Given the description of an element on the screen output the (x, y) to click on. 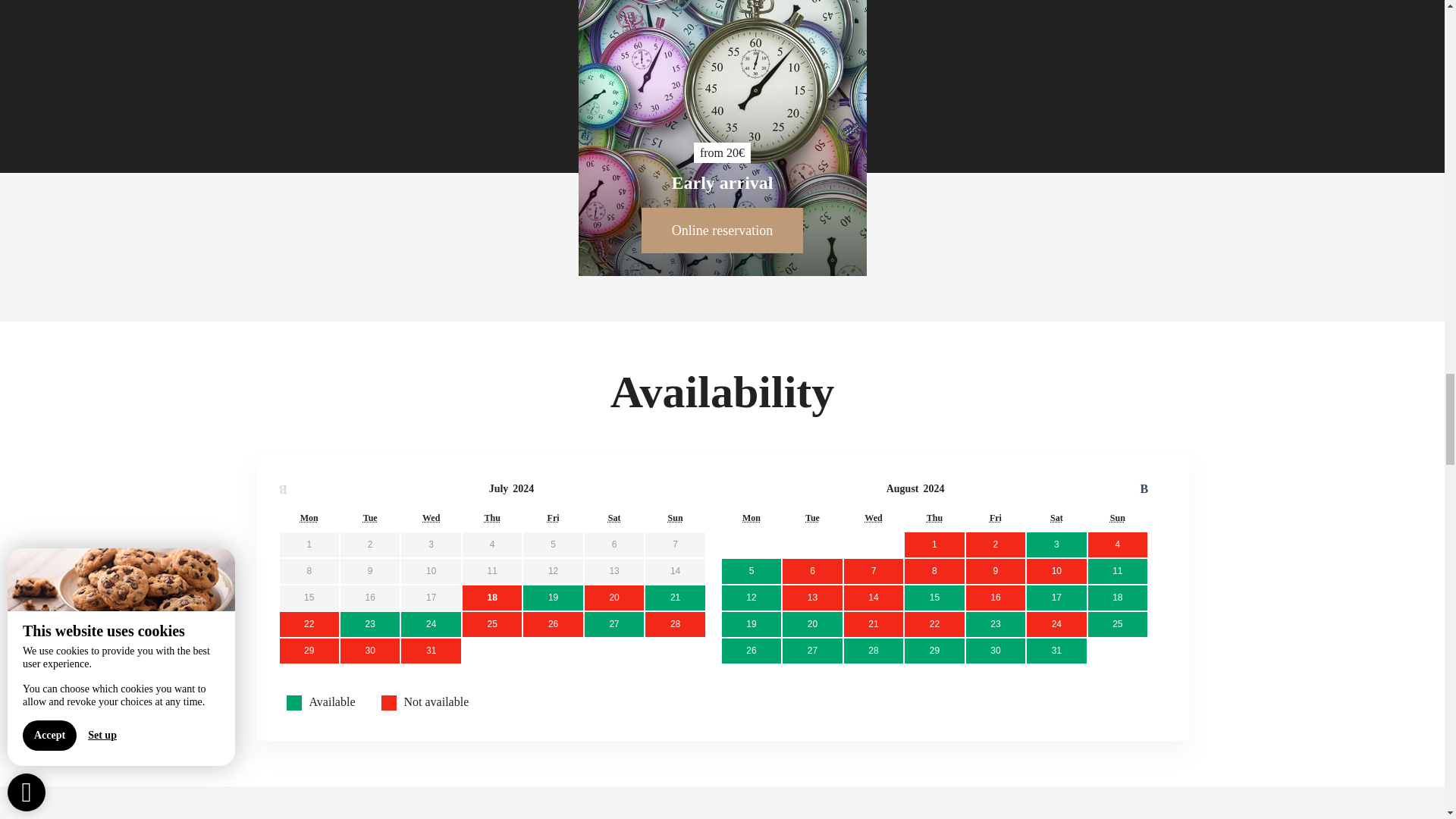
Tuesday (812, 517)
Friday (995, 517)
Wednesday (873, 517)
Sunday (1117, 517)
Saturday (1055, 517)
Thursday (934, 517)
Monday (308, 517)
Monday (751, 517)
Sunday (675, 517)
Friday (553, 517)
Saturday (614, 517)
Tuesday (369, 517)
Thursday (491, 517)
Wednesday (430, 517)
